Given the description of an element on the screen output the (x, y) to click on. 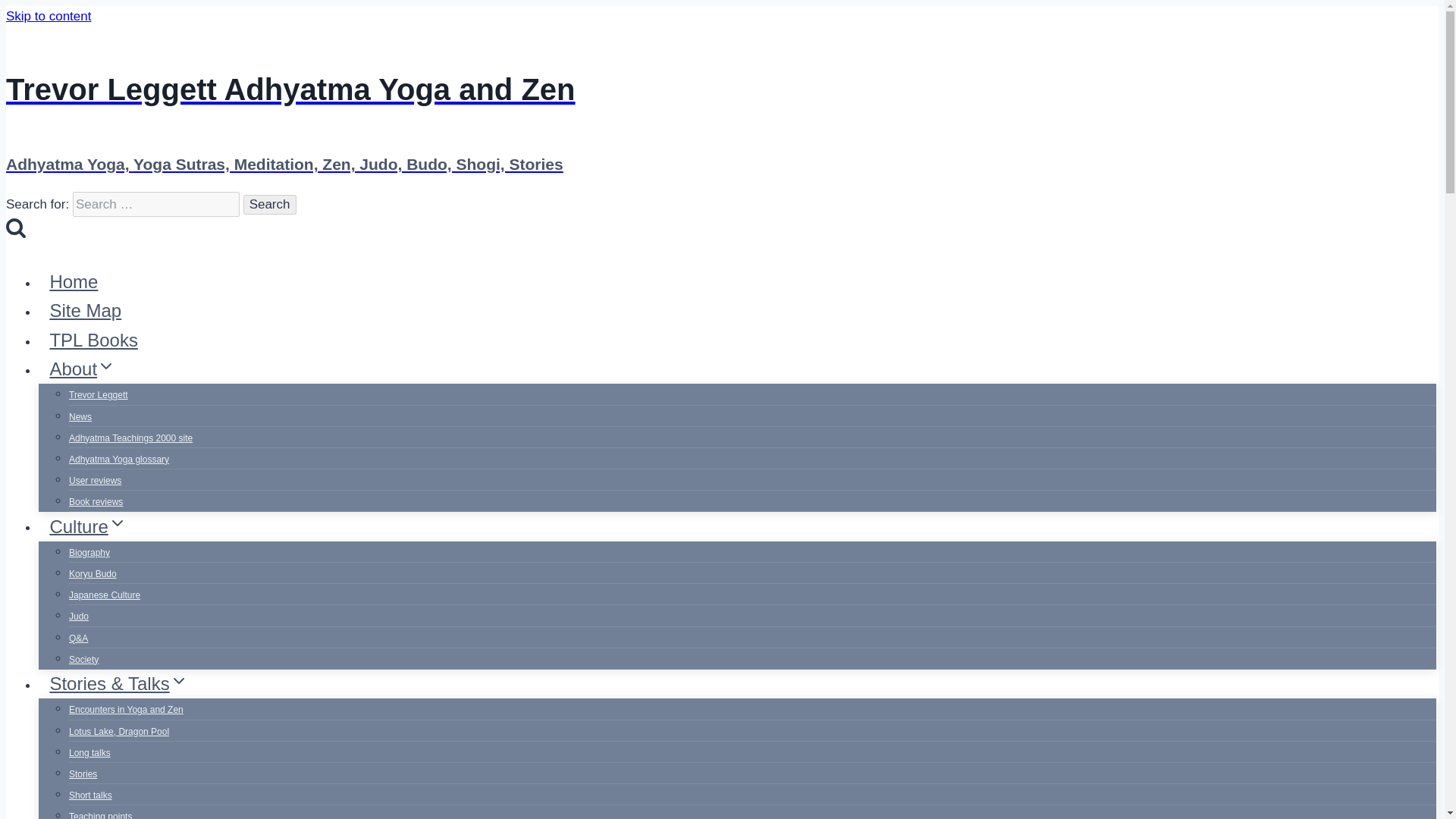
Search (270, 204)
Expand (116, 523)
User reviews (94, 480)
Book reviews (95, 501)
Home (74, 281)
Site Map (85, 310)
AboutExpand (82, 368)
Japanese Culture (103, 594)
Lotus Lake, Dragon Pool (118, 731)
TPL Books (93, 339)
Adhyatma Yoga glossary (118, 459)
Koryu Budo (92, 573)
Search (15, 227)
Long talks (89, 752)
Trevor Leggett (98, 394)
